Given the description of an element on the screen output the (x, y) to click on. 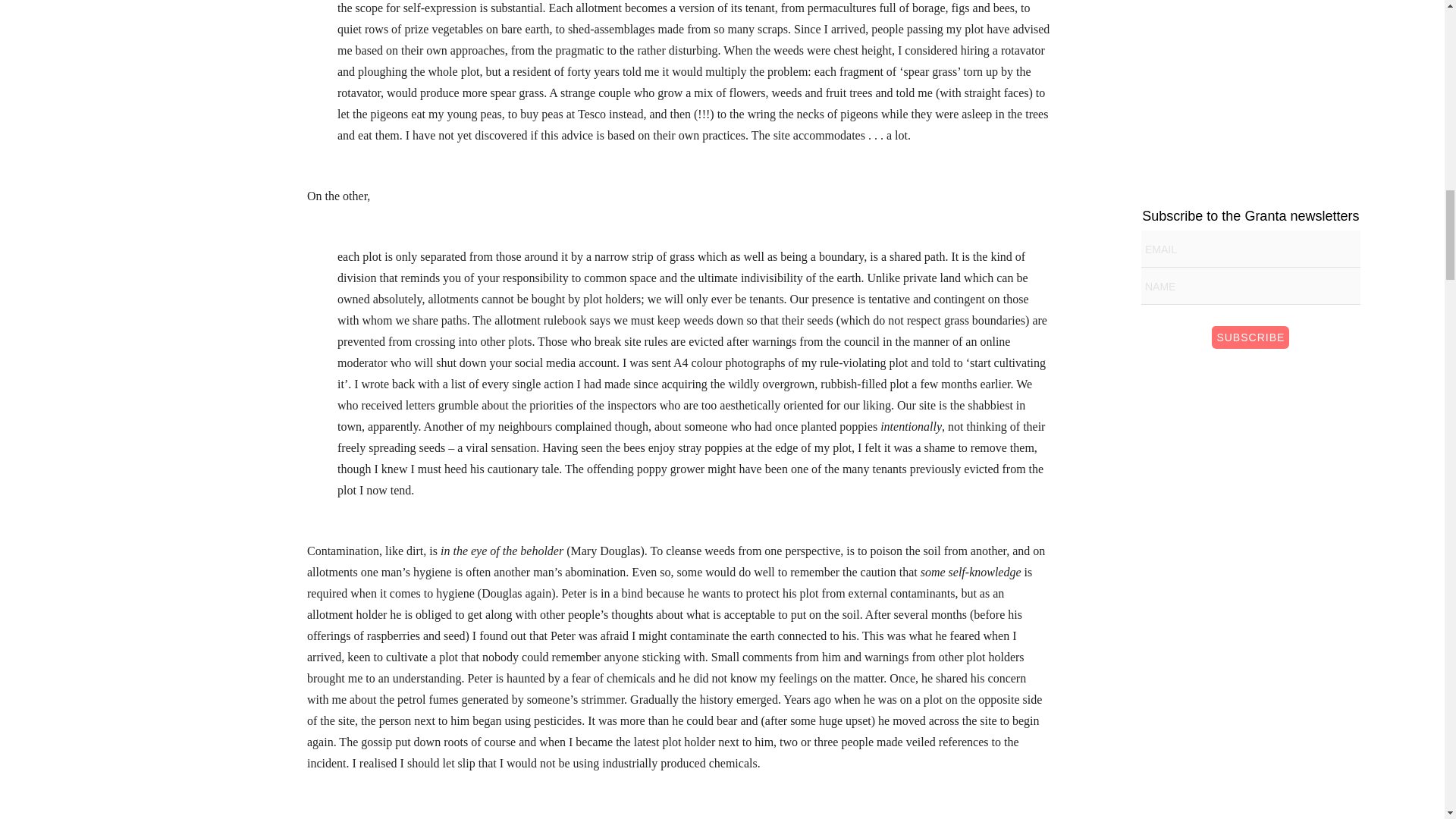
Email (1250, 248)
